Given the description of an element on the screen output the (x, y) to click on. 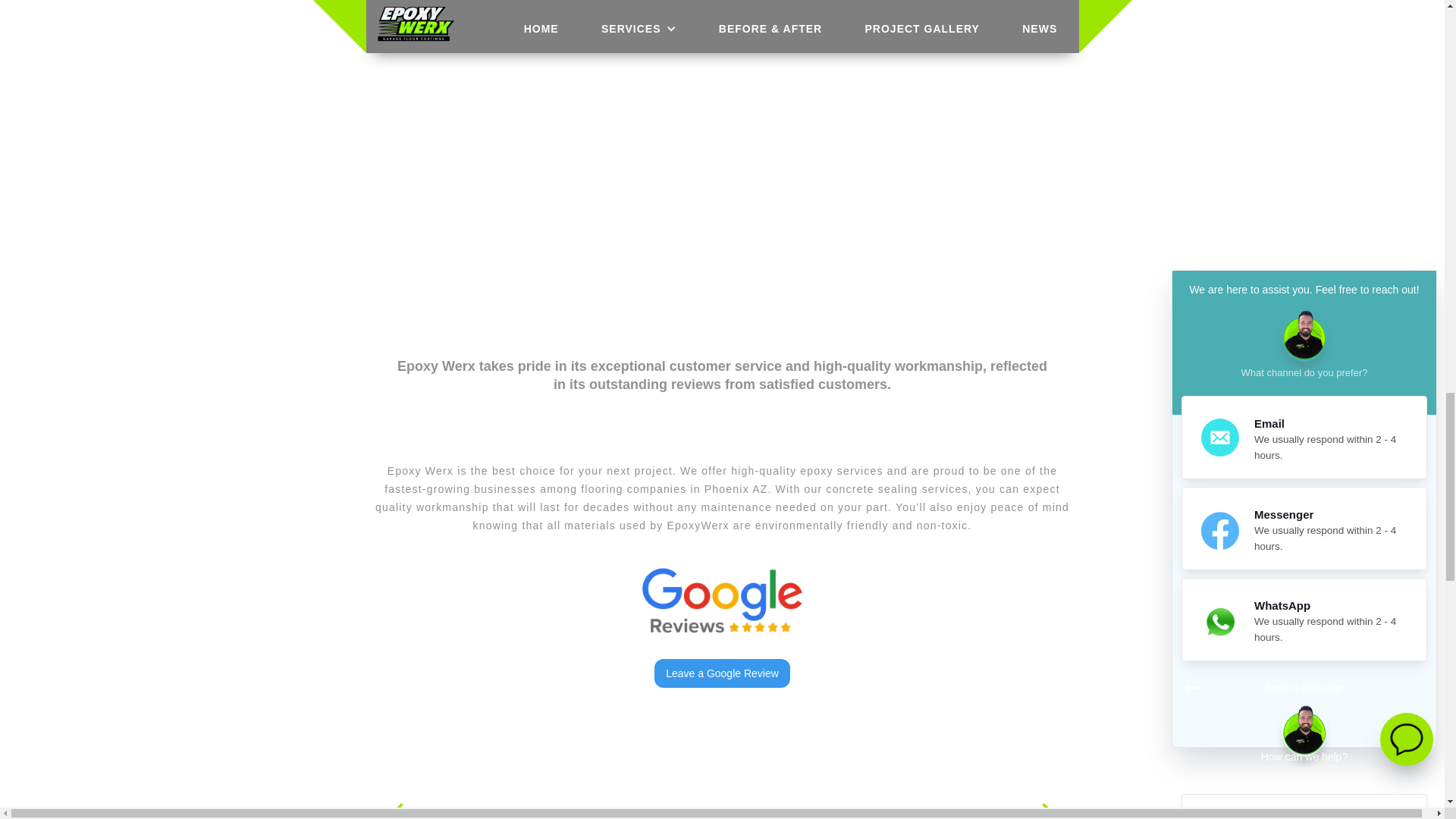
Leave a Google Review (721, 673)
